Given the description of an element on the screen output the (x, y) to click on. 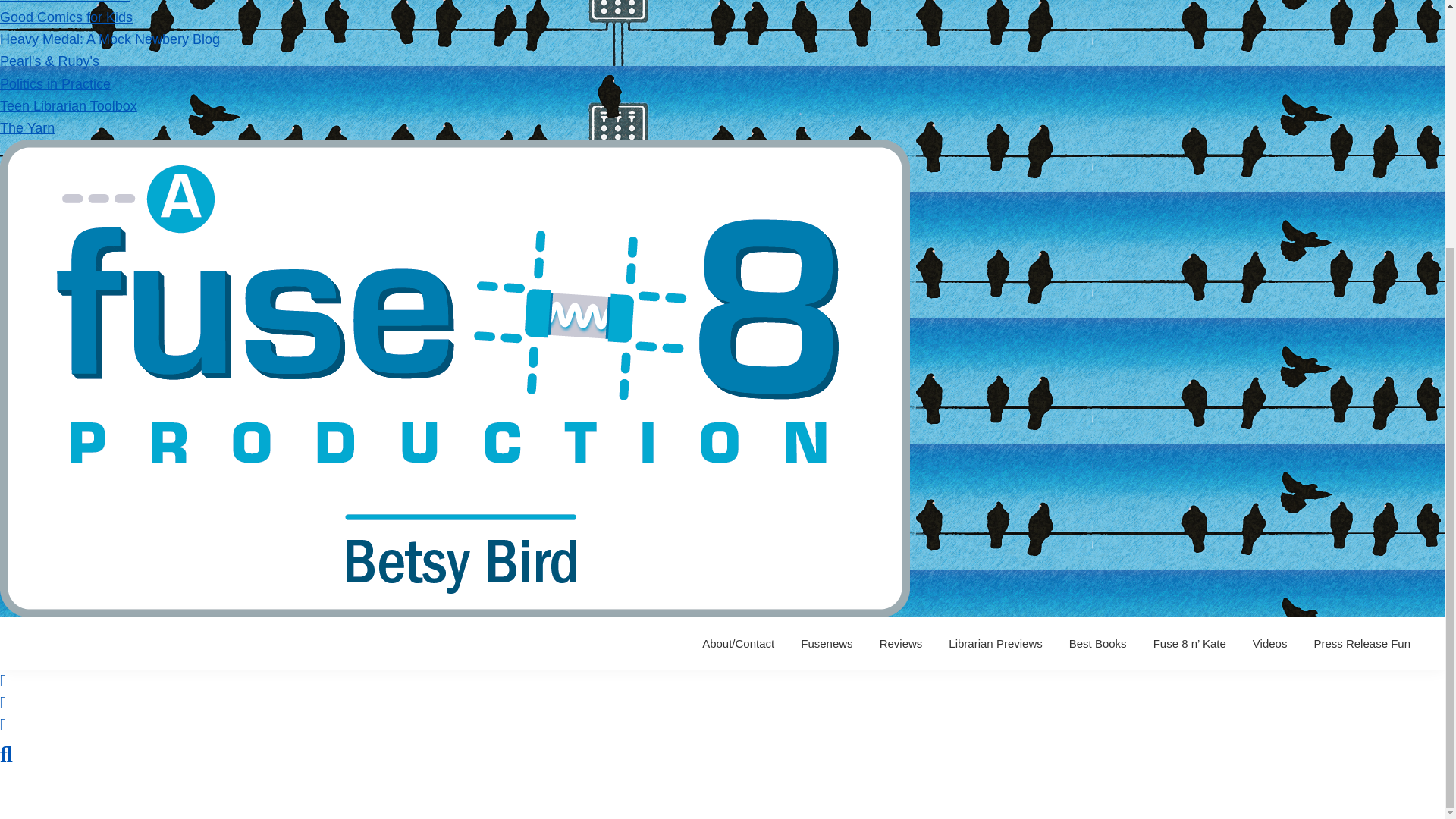
Fusenews (826, 643)
Teen Librarian Toolbox (68, 105)
Reviews (900, 643)
Politics in Practice (55, 83)
Videos (1269, 643)
The Yarn (27, 127)
Good Comics for Kids (66, 17)
Best Books (1098, 643)
Librarian Previews (994, 643)
